Given the description of an element on the screen output the (x, y) to click on. 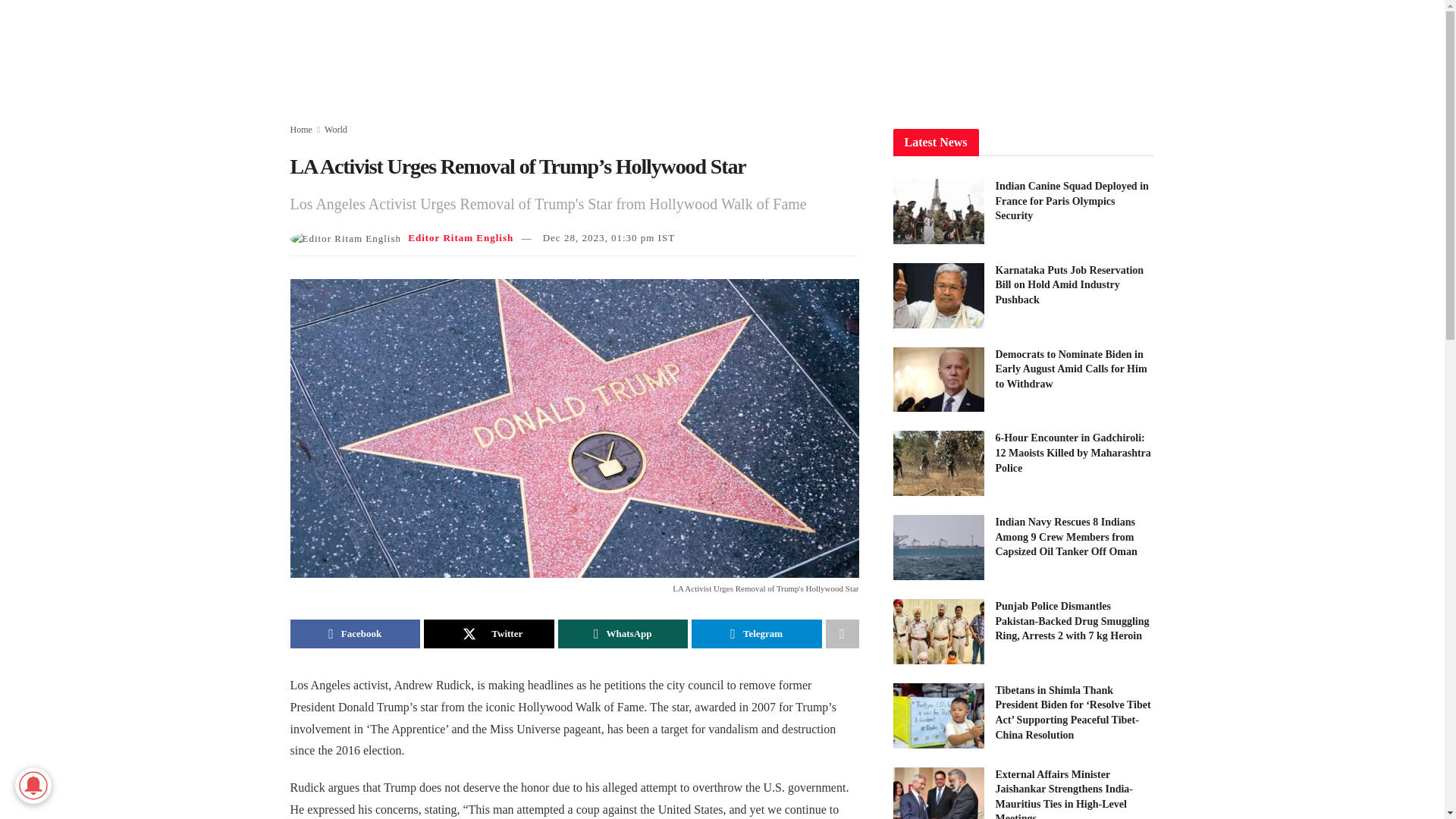
POLITICS (788, 53)
WORLD (650, 53)
SPORTS (1019, 53)
BUSINESS (862, 53)
VIDEOS (716, 53)
NATION (586, 53)
HOME (525, 53)
LIFESTYLE (943, 53)
OPINION (1086, 53)
